Given the description of an element on the screen output the (x, y) to click on. 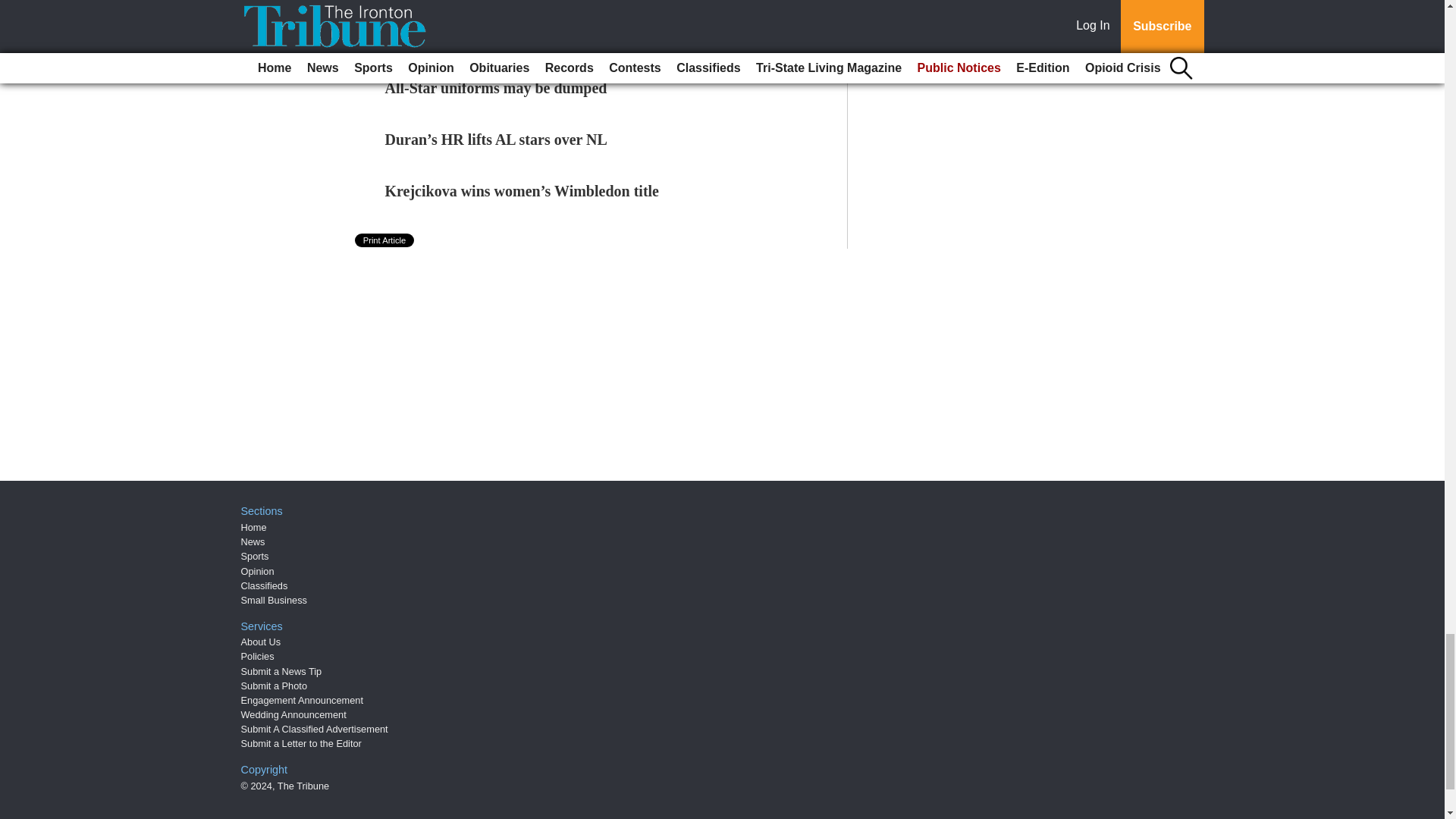
Home (253, 527)
News (252, 541)
Classifieds (264, 585)
All-Star uniforms may be dumped (496, 87)
All-Star uniforms may be dumped (496, 87)
Sports (255, 555)
Opinion (258, 571)
Print Article (384, 240)
